Given the description of an element on the screen output the (x, y) to click on. 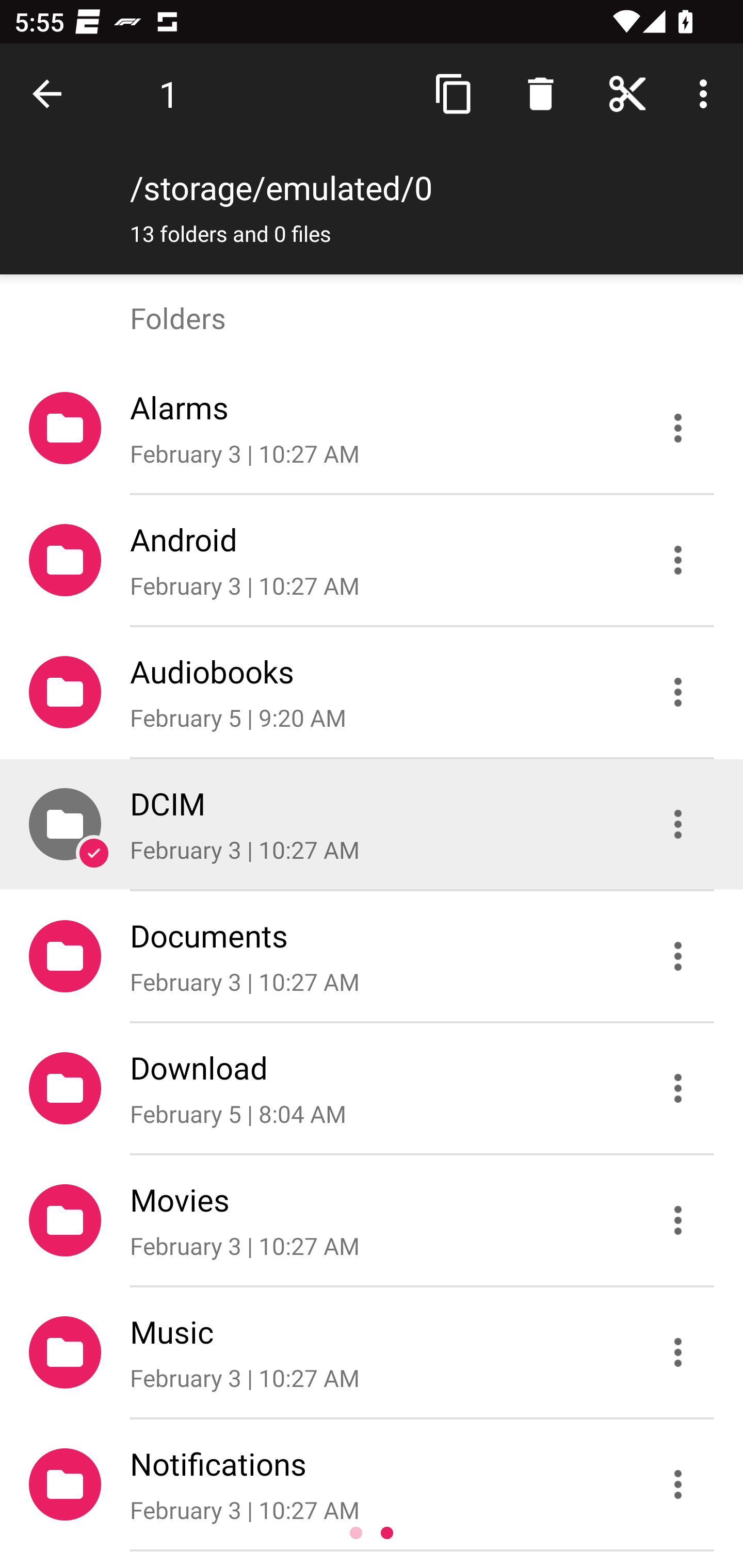
Navigate up (50, 93)
1 (169, 93)
Copy (453, 93)
Search (540, 93)
Home (626, 93)
More options (706, 93)
Alarms February 3 | 10:27 AM (371, 427)
Android February 3 | 10:27 AM (371, 560)
Audiobooks February 5 | 9:20 AM (371, 692)
DCIM February 3 | 10:27 AM (371, 823)
Documents February 3 | 10:27 AM (371, 955)
Download February 5 | 8:04 AM (371, 1088)
Movies February 3 | 10:27 AM (371, 1220)
Music February 3 | 10:27 AM (371, 1352)
Notifications February 3 | 10:27 AM (371, 1484)
